Given the description of an element on the screen output the (x, y) to click on. 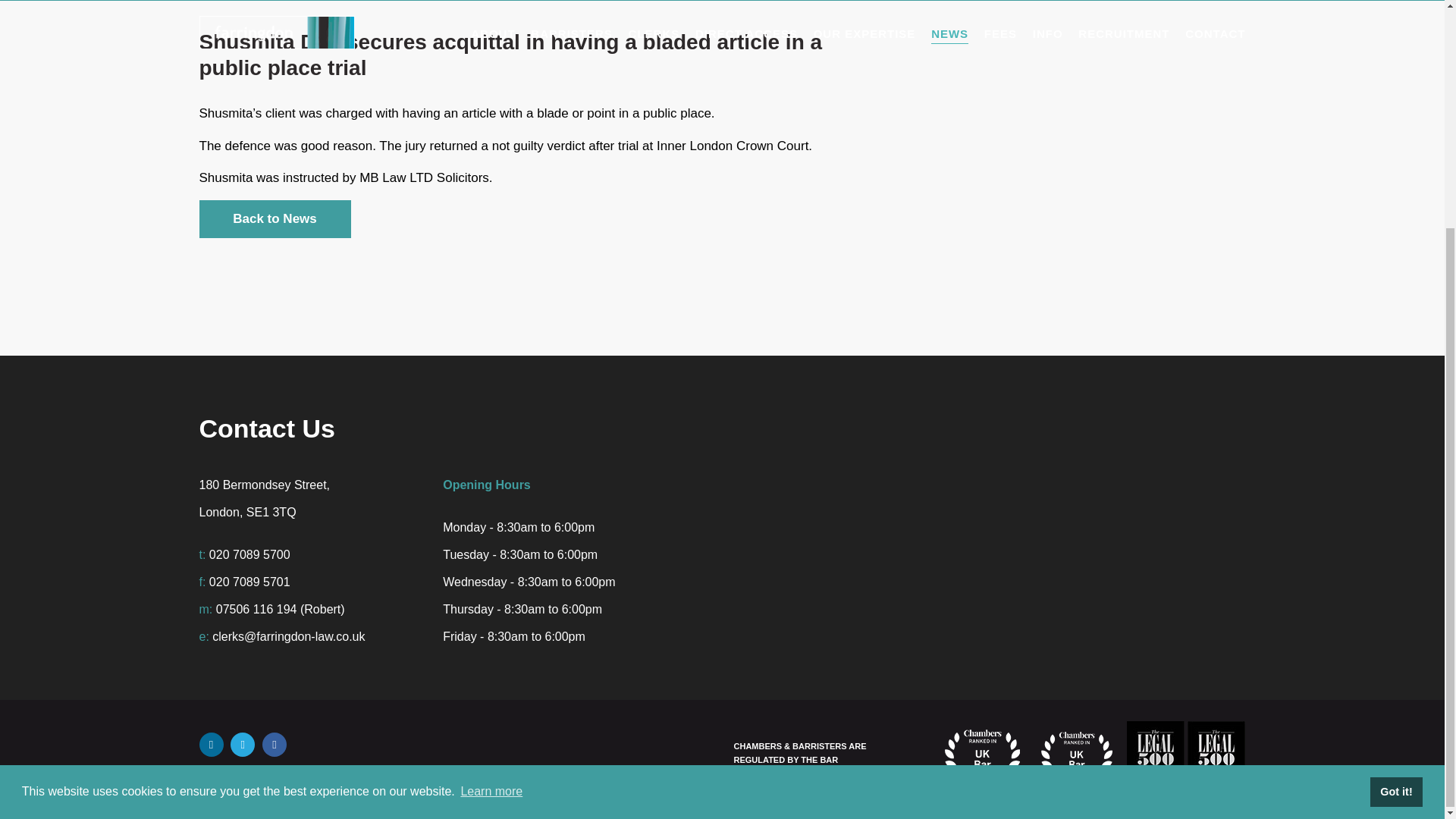
Policies (413, 774)
Cookie Policy (510, 774)
Back to News (274, 218)
Got it! (1396, 484)
Learn more (491, 484)
Site Map (329, 774)
